Given the description of an element on the screen output the (x, y) to click on. 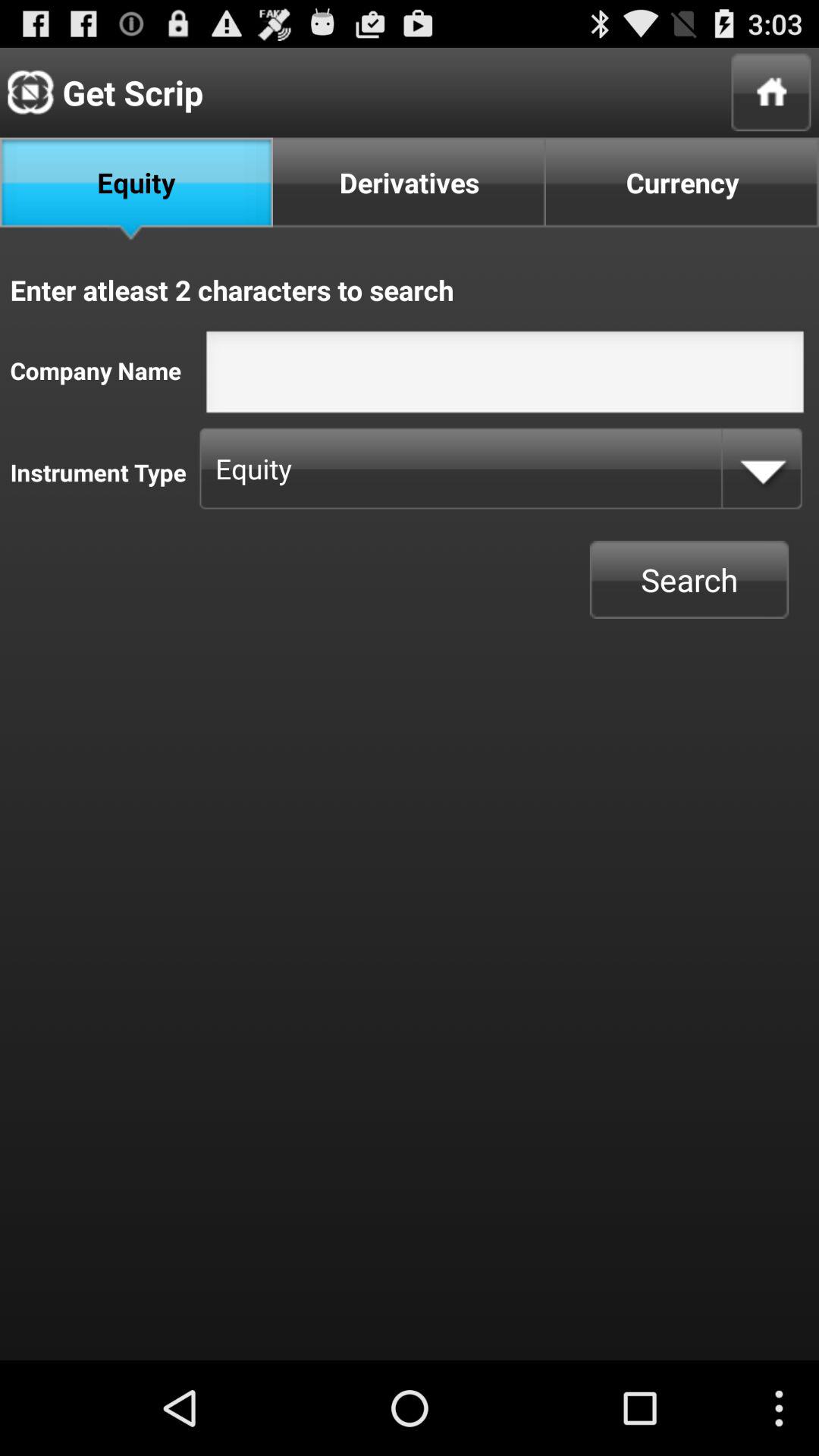
write company name (504, 376)
